Given the description of an element on the screen output the (x, y) to click on. 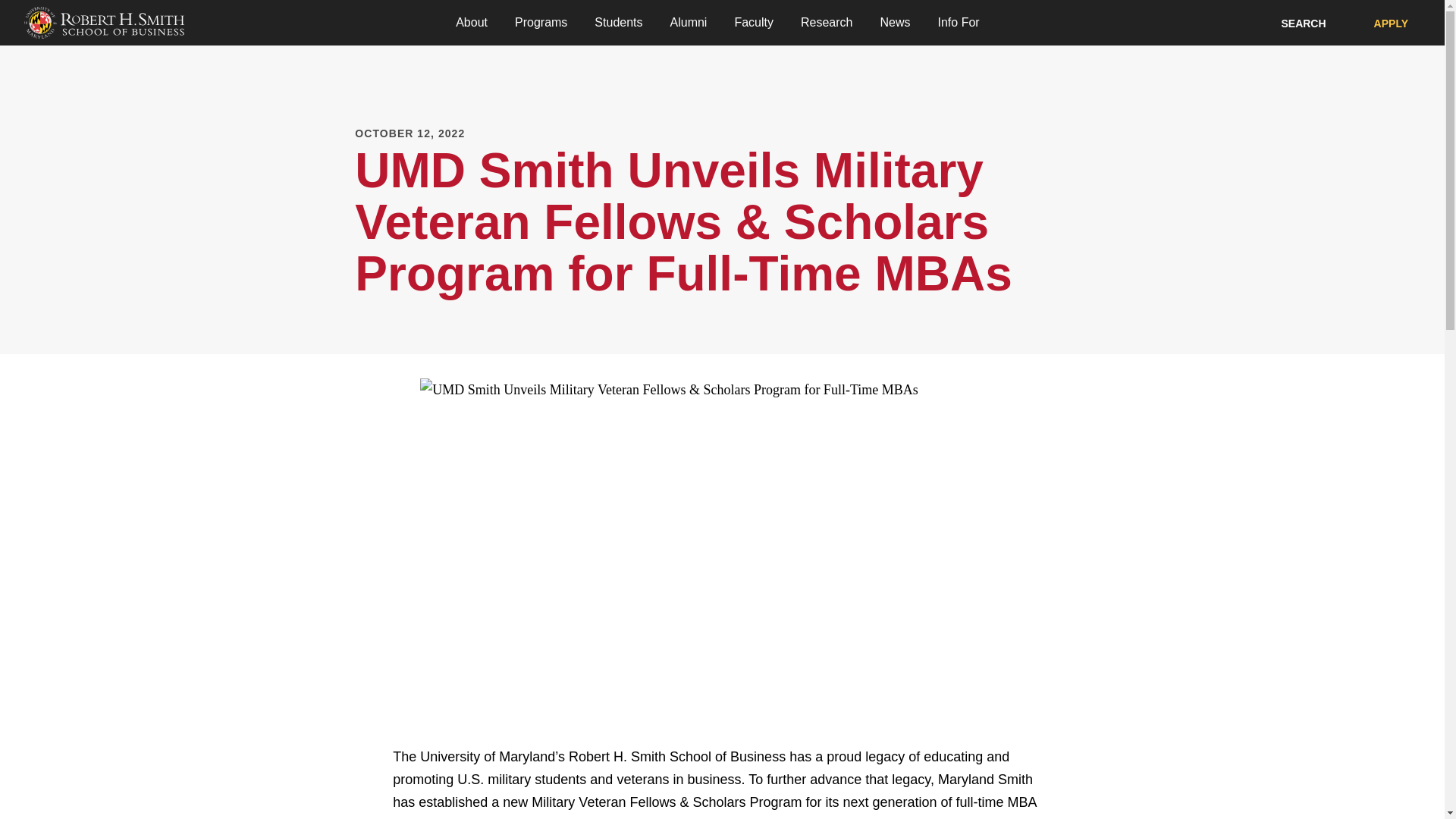
Students (618, 22)
Programs (540, 22)
About (471, 22)
Alumni (688, 22)
